Given the description of an element on the screen output the (x, y) to click on. 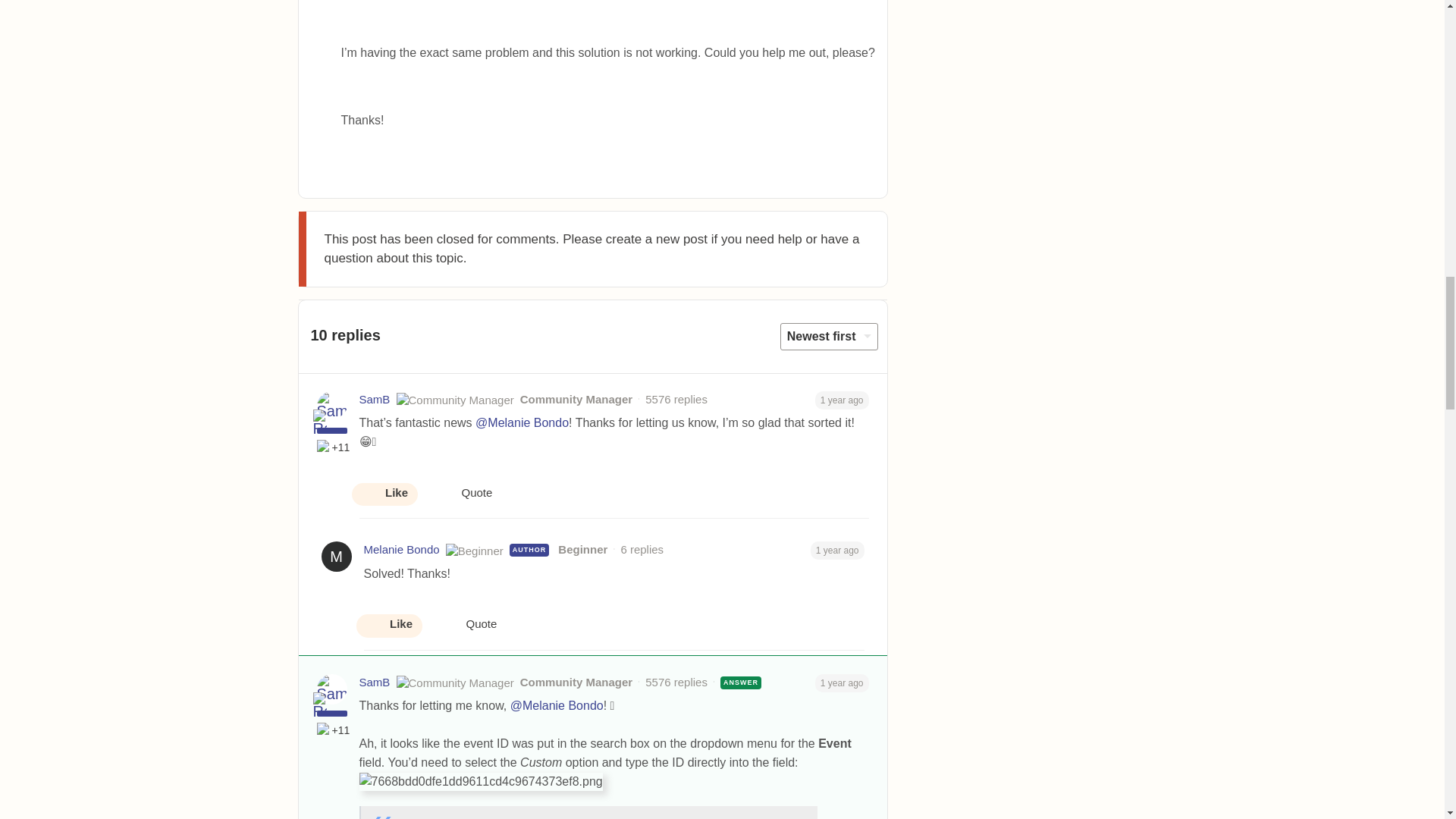
1 year ago (842, 399)
Melanie Bondo (401, 549)
First Best Answer (324, 729)
SamB (374, 399)
SamB (374, 682)
SamB (374, 399)
Like (383, 493)
First Best Answer (324, 447)
